Given the description of an element on the screen output the (x, y) to click on. 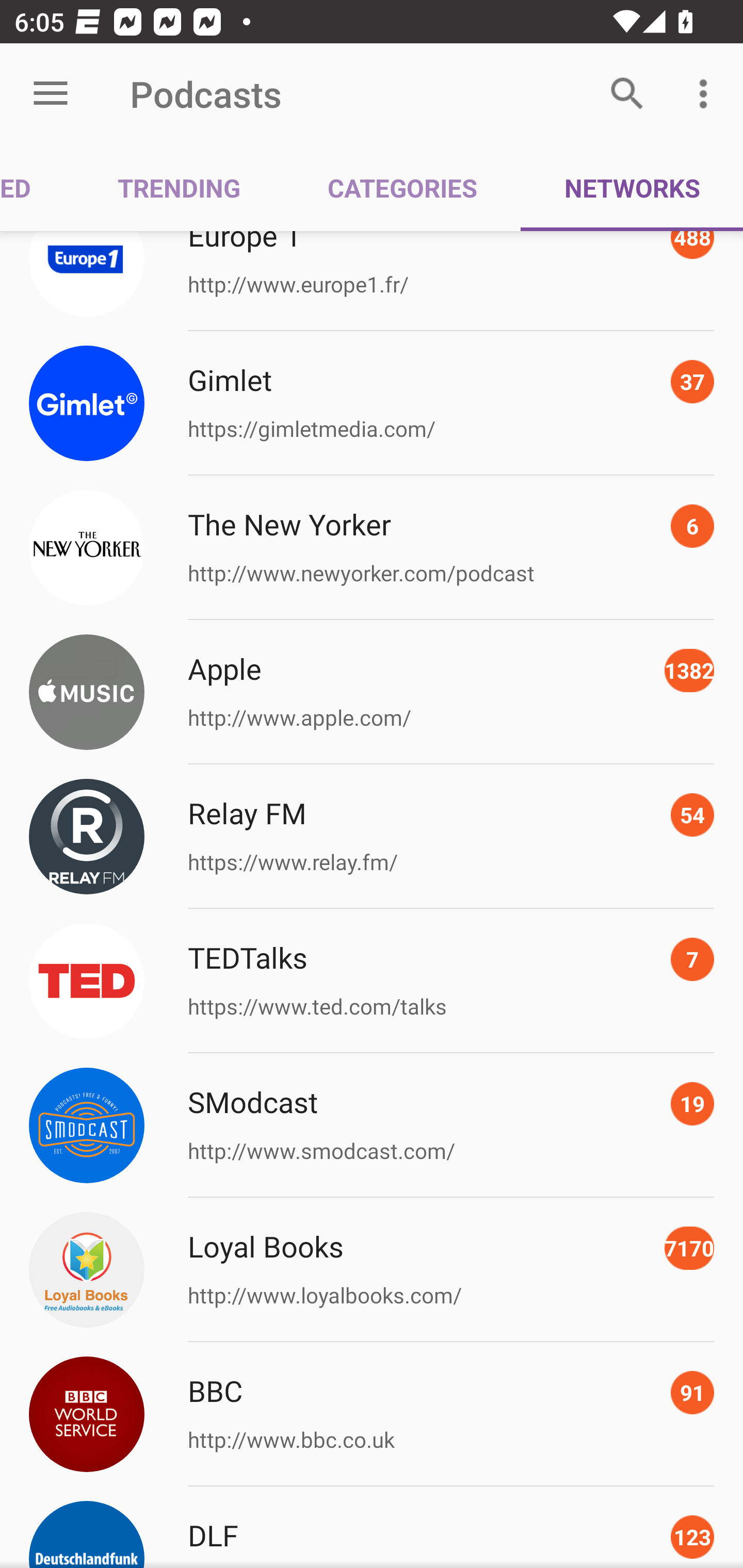
Open menu (50, 93)
Search (626, 93)
More options (706, 93)
TRENDING (178, 187)
CATEGORIES (401, 187)
NETWORKS (631, 187)
Picture Europe 1 488 http://www.europe1.fr/ (371, 280)
Picture Gimlet 37 https://gimletmedia.com/ (371, 402)
Picture Apple 1382 http://www.apple.com/ (371, 692)
Picture Relay FM 54 https://www.relay.fm/ (371, 837)
Picture TEDTalks 7 https://www.ted.com/talks (371, 981)
Picture SModcast 19 http://www.smodcast.com/ (371, 1125)
Picture BBC 91 http://www.bbc.co.uk (371, 1414)
Picture DLF 123 (371, 1527)
